Given the description of an element on the screen output the (x, y) to click on. 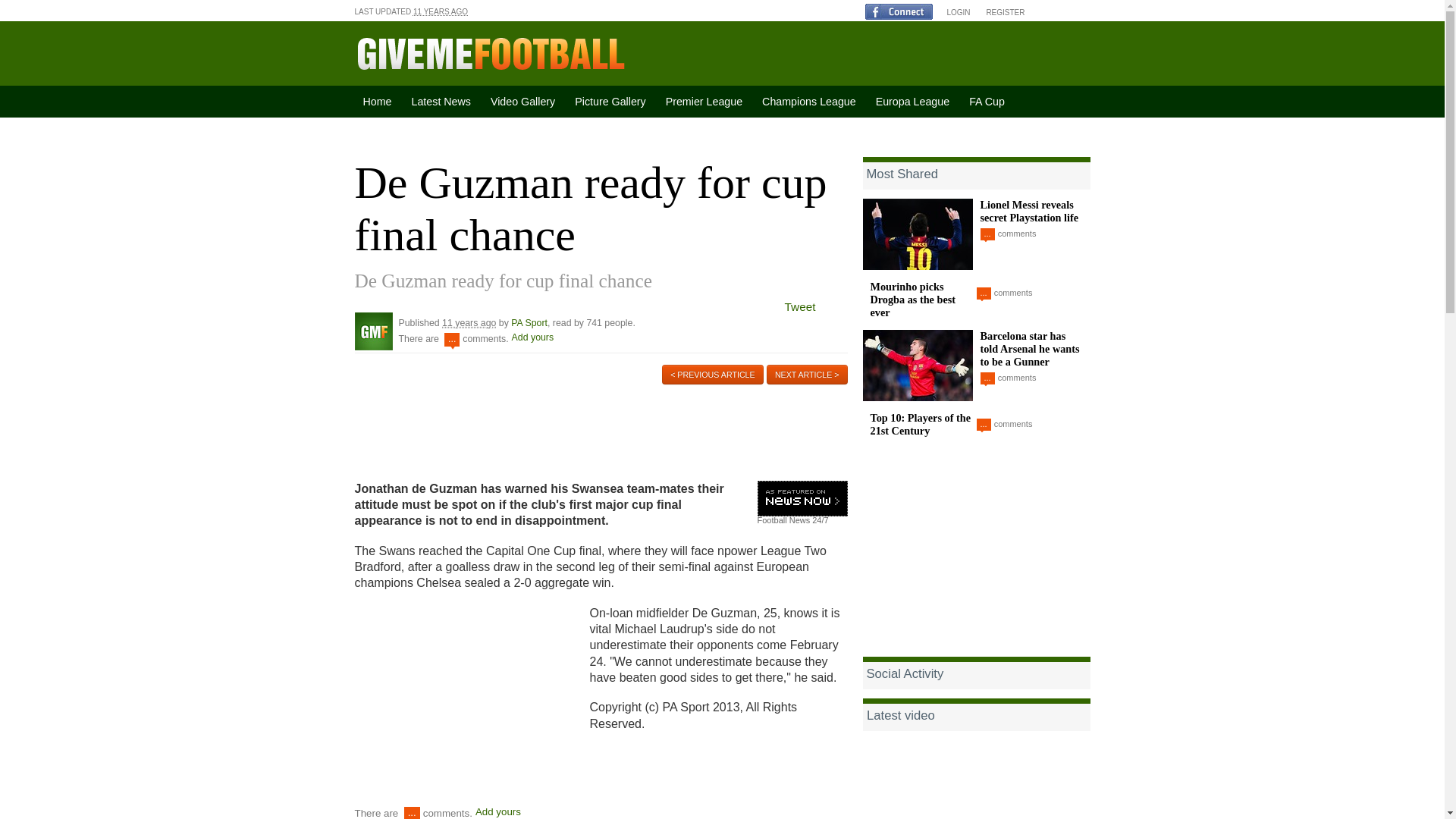
PA Sport (374, 331)
comments. (447, 813)
Picture Gallery (612, 101)
Latest News (444, 101)
De Guzman ready for cup final chance (591, 209)
There are (376, 813)
11 YEARS AGO (440, 11)
Premier League (705, 101)
GIVEMEFOOTBALL (491, 53)
Add yours (498, 811)
There are (418, 338)
Video Gallery (524, 101)
FA Cup (989, 101)
Europa League (914, 101)
Thursday, March 21 2013 6:01 PM (440, 11)
